Given the description of an element on the screen output the (x, y) to click on. 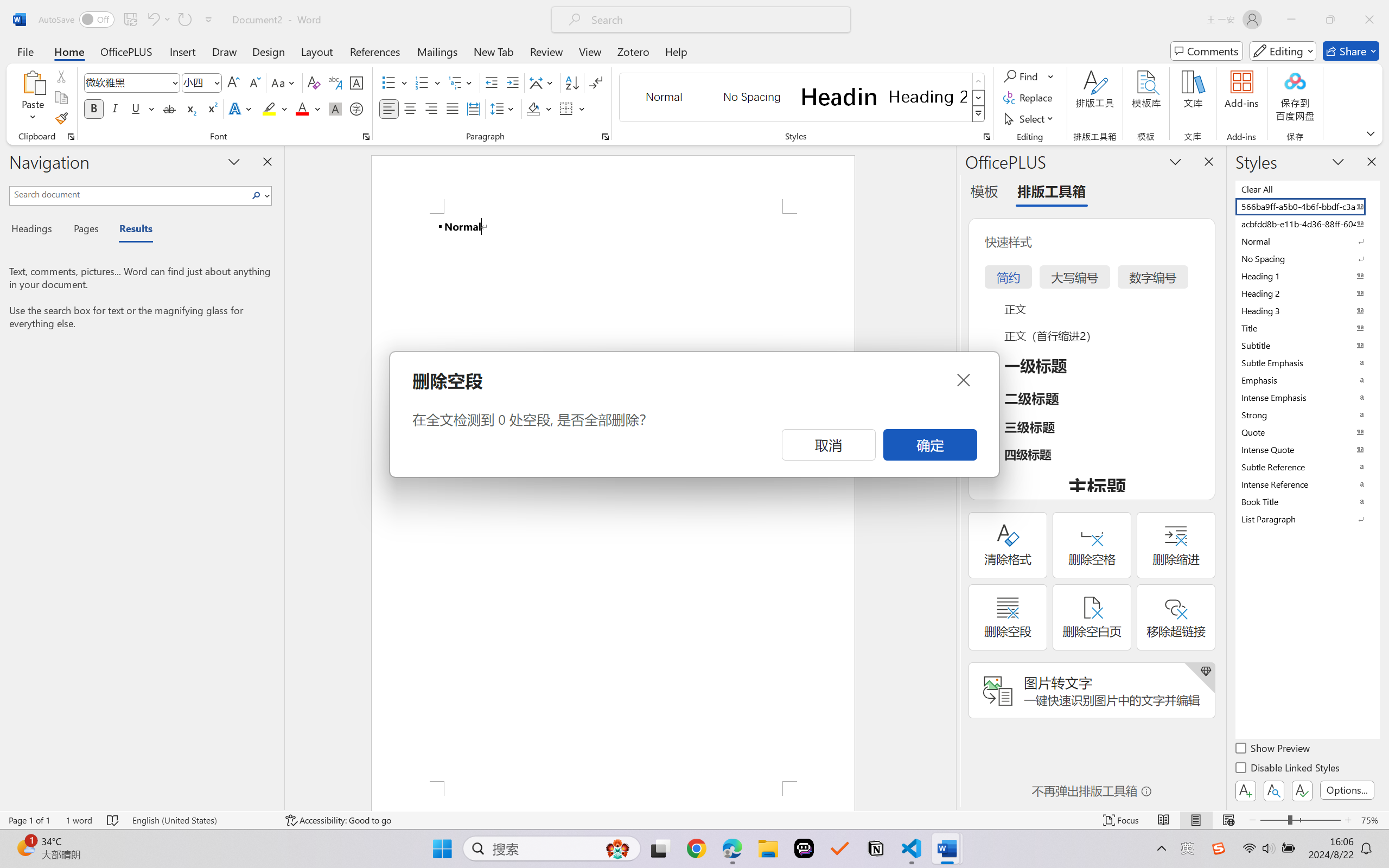
Underline (142, 108)
Class: NetUIImage (978, 114)
References (375, 51)
Format Painter (60, 118)
Customize Quick Access Toolbar (208, 19)
Class: MsoCommandBar (694, 819)
Minimize (1291, 19)
Class: Image (1218, 847)
Poe (804, 848)
Change Case (284, 82)
